Given the description of an element on the screen output the (x, y) to click on. 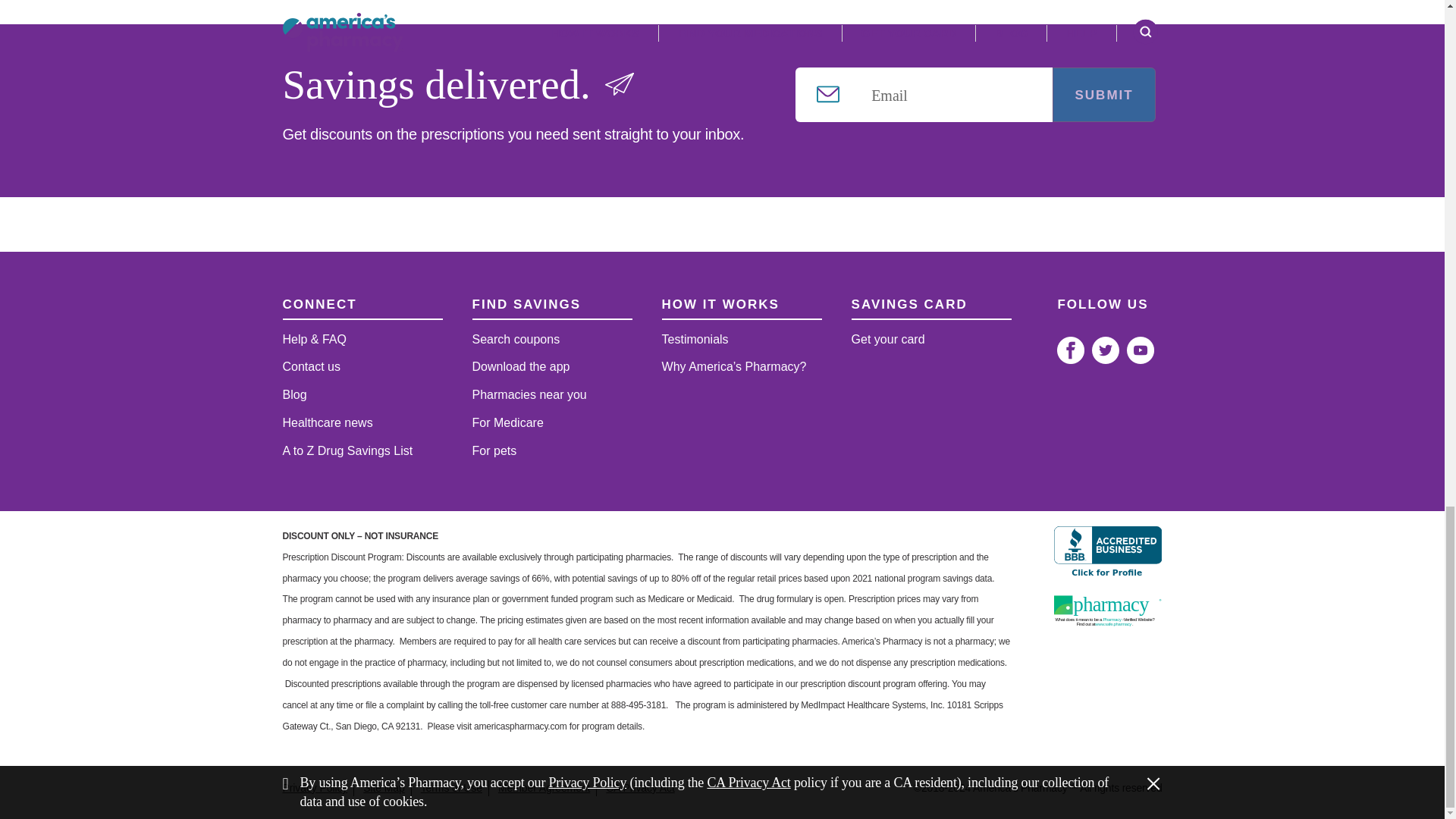
Download the app (552, 366)
Blog (362, 395)
Blog (362, 395)
Healthcare news (362, 423)
Healthcare news (362, 423)
Contact us (362, 366)
For Medicare (552, 423)
submit (1103, 94)
submit (1103, 94)
A to Z Drug Savings List (362, 451)
Contact us (362, 366)
submit (1103, 94)
For pets (552, 451)
A to Z Drug Savings List (362, 451)
Pharmacies near you (552, 395)
